Given the description of an element on the screen output the (x, y) to click on. 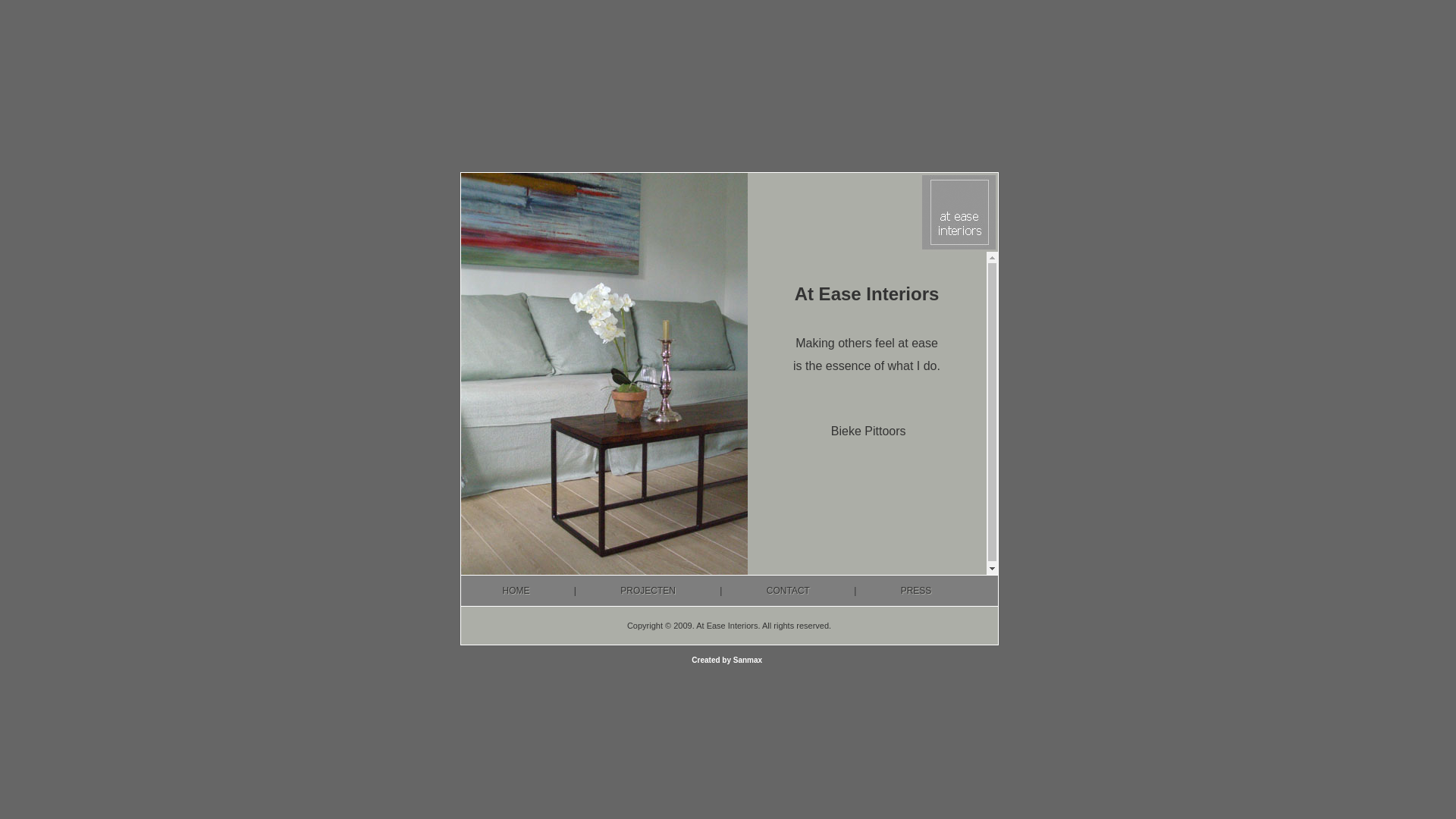
PRESS Element type: text (916, 590)
PROJECTEN Element type: text (647, 590)
HOME Element type: text (516, 590)
CONTACT Element type: text (787, 590)
Created by Sanmax   Element type: text (728, 659)
